Given the description of an element on the screen output the (x, y) to click on. 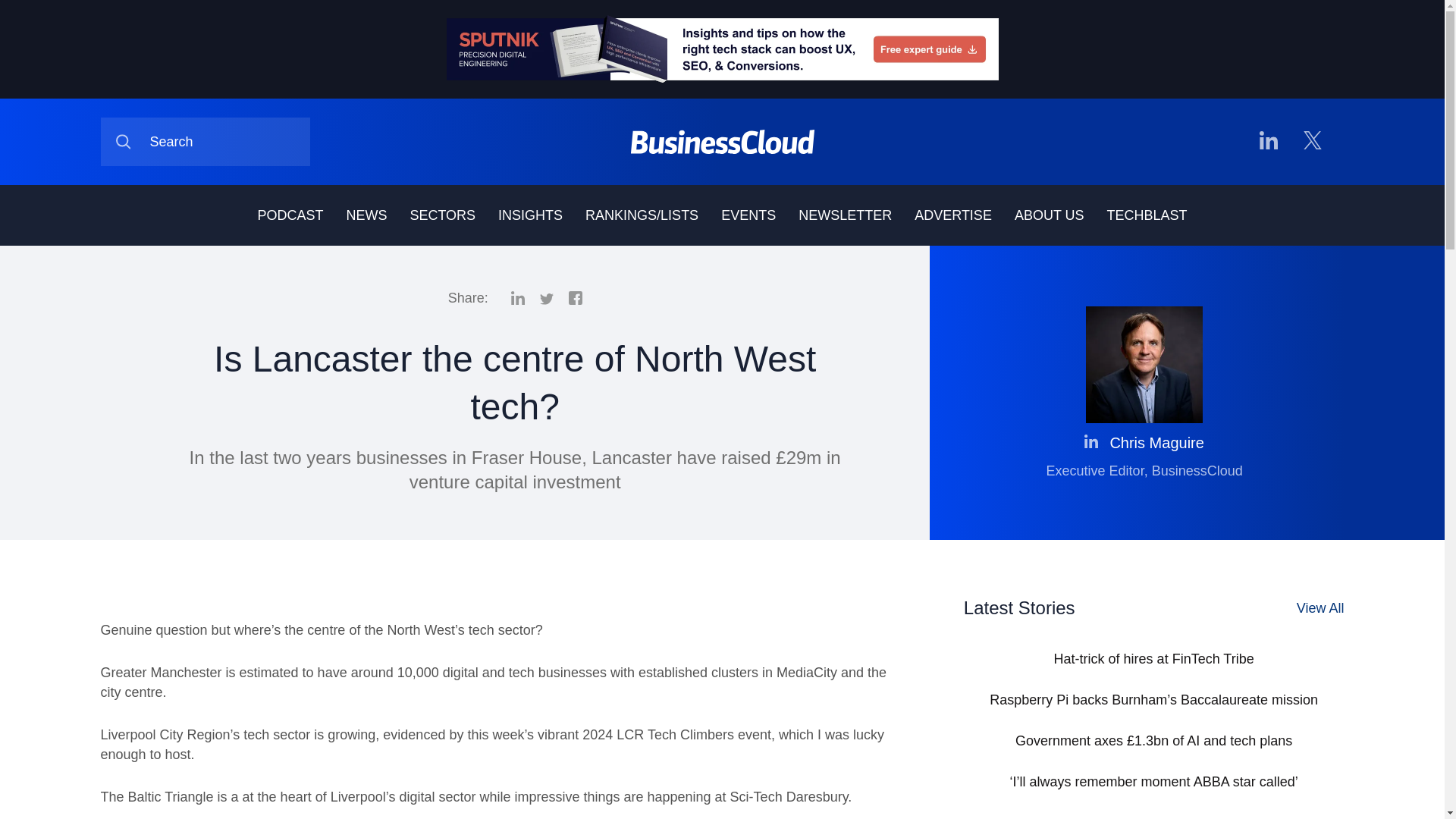
SECTORS (442, 215)
ABOUT US (1049, 215)
EVENTS (748, 215)
PODCAST (290, 215)
NEWS (366, 215)
ADVERTISE (952, 215)
TECHBLAST (1147, 215)
Search for: (204, 141)
INSIGHTS (529, 215)
NEWSLETTER (844, 215)
